Given the description of an element on the screen output the (x, y) to click on. 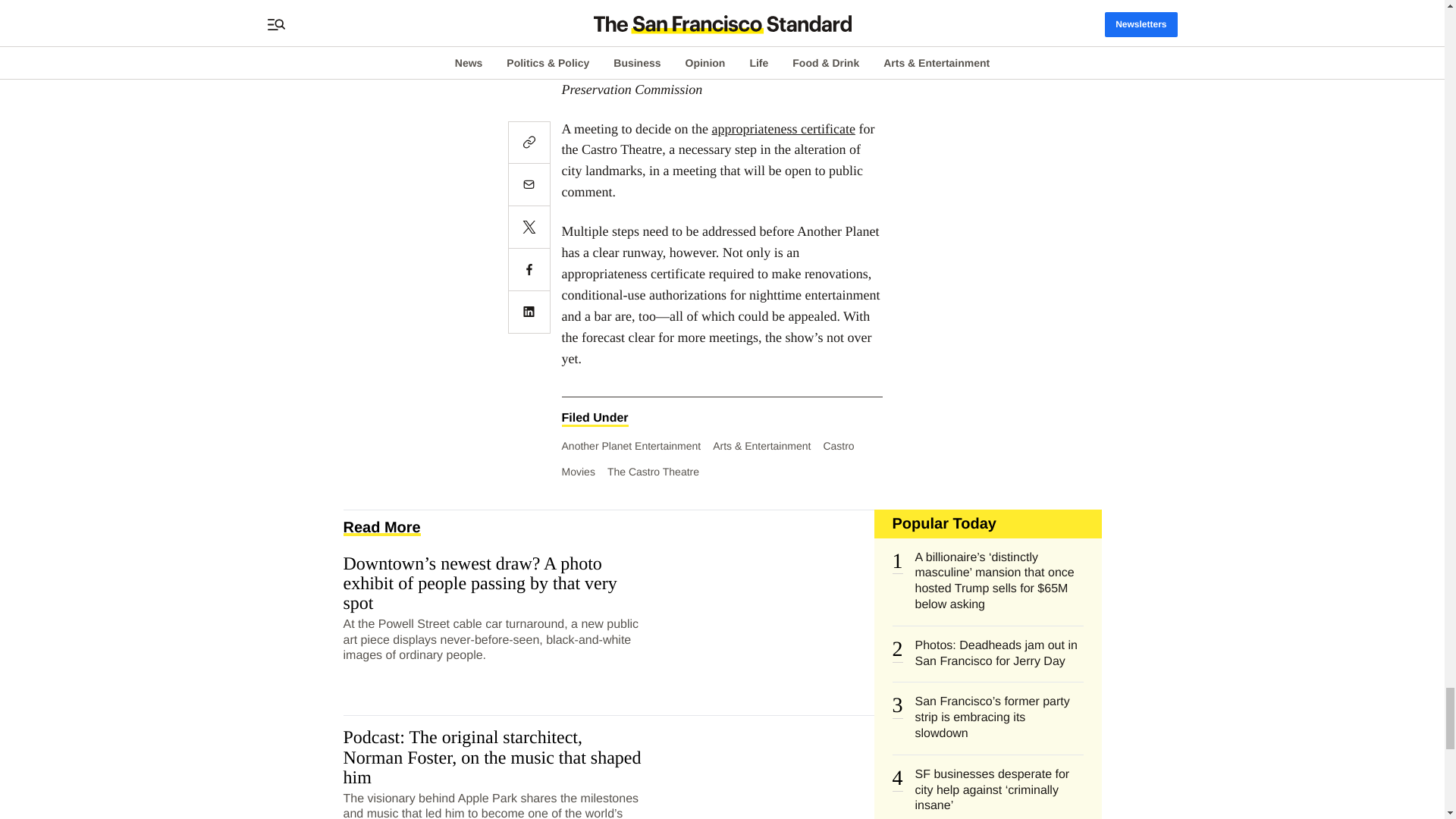
appropriateness certificate (782, 128)
